Given the description of an element on the screen output the (x, y) to click on. 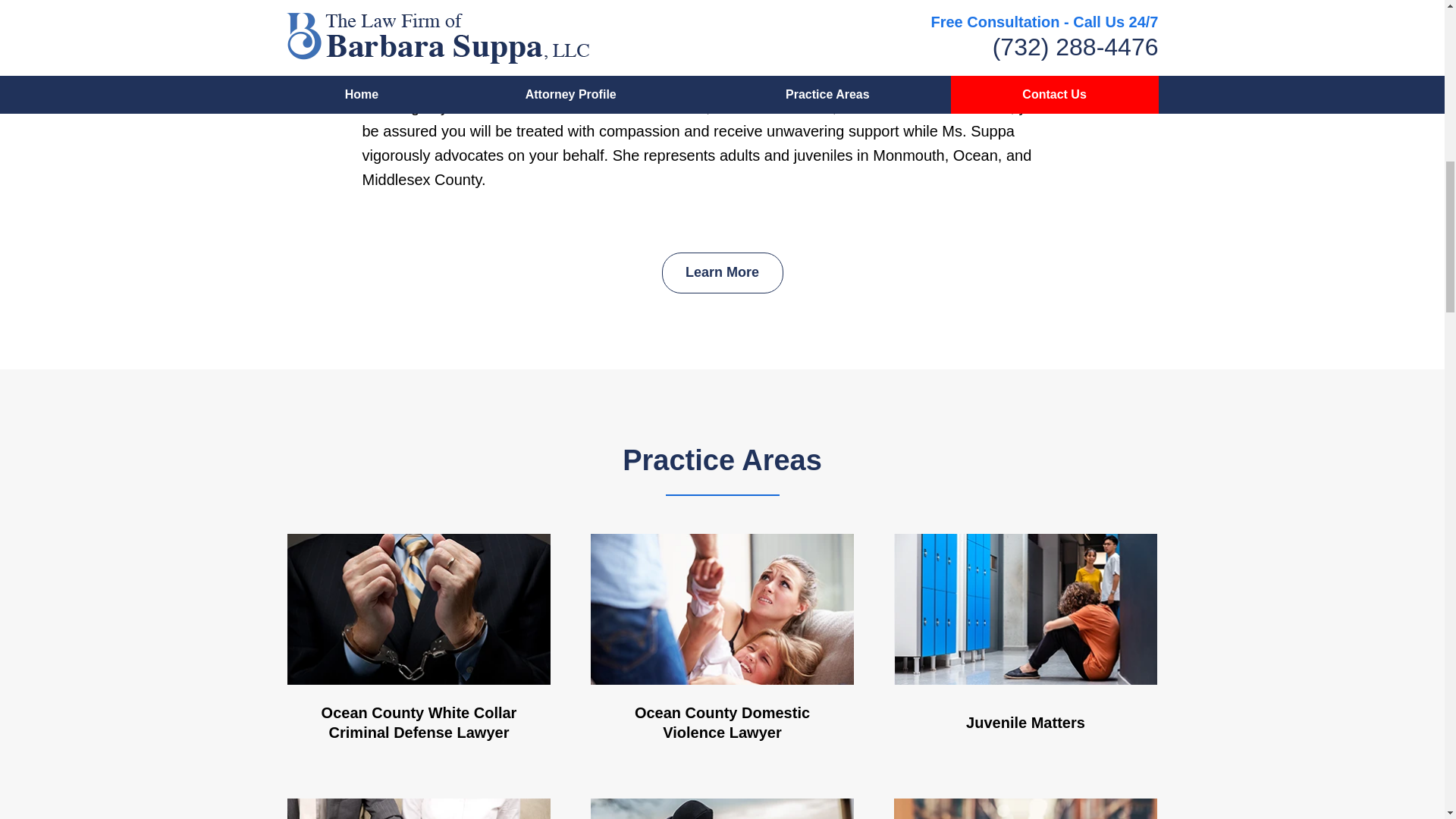
Learn More (722, 272)
Juvenile Matters (1025, 646)
Education Law (1025, 808)
Ocean County Sex Crimes Lawyer (418, 808)
Ocean County Domestic Violence Lawyer (722, 646)
Ocean County White Collar Criminal Defense Lawyer (418, 646)
